Given the description of an element on the screen output the (x, y) to click on. 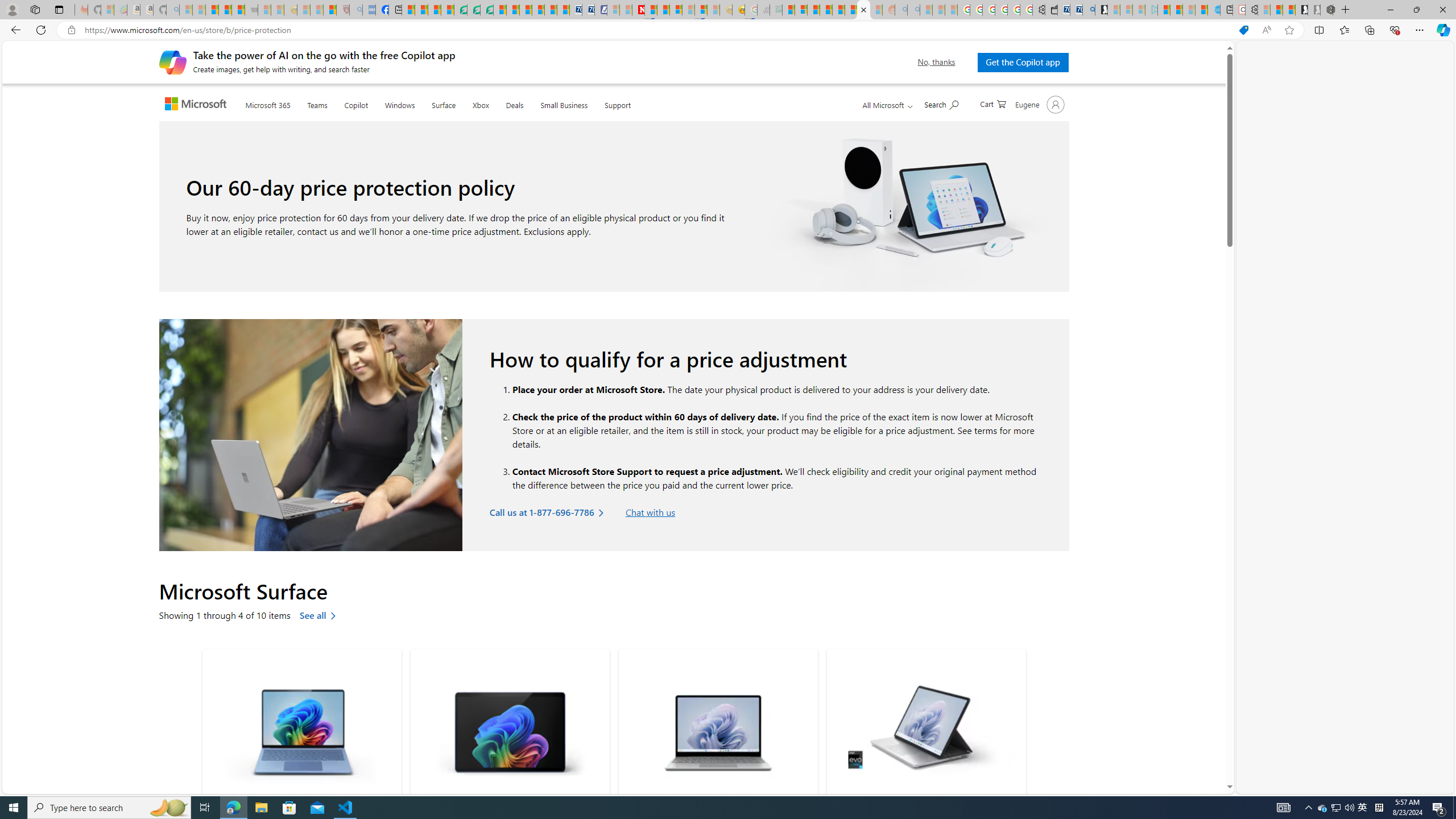
Shopping in Microsoft Edge (1243, 29)
Bing Real Estate - Home sales and rental listings (1088, 9)
LendingTree - Compare Lenders (460, 9)
Kinda Frugal - MSN (850, 9)
Teams (316, 103)
Cheap Car Rentals - Save70.com (1076, 9)
Microsoft Start - Sleeping (1188, 9)
